Given the description of an element on the screen output the (x, y) to click on. 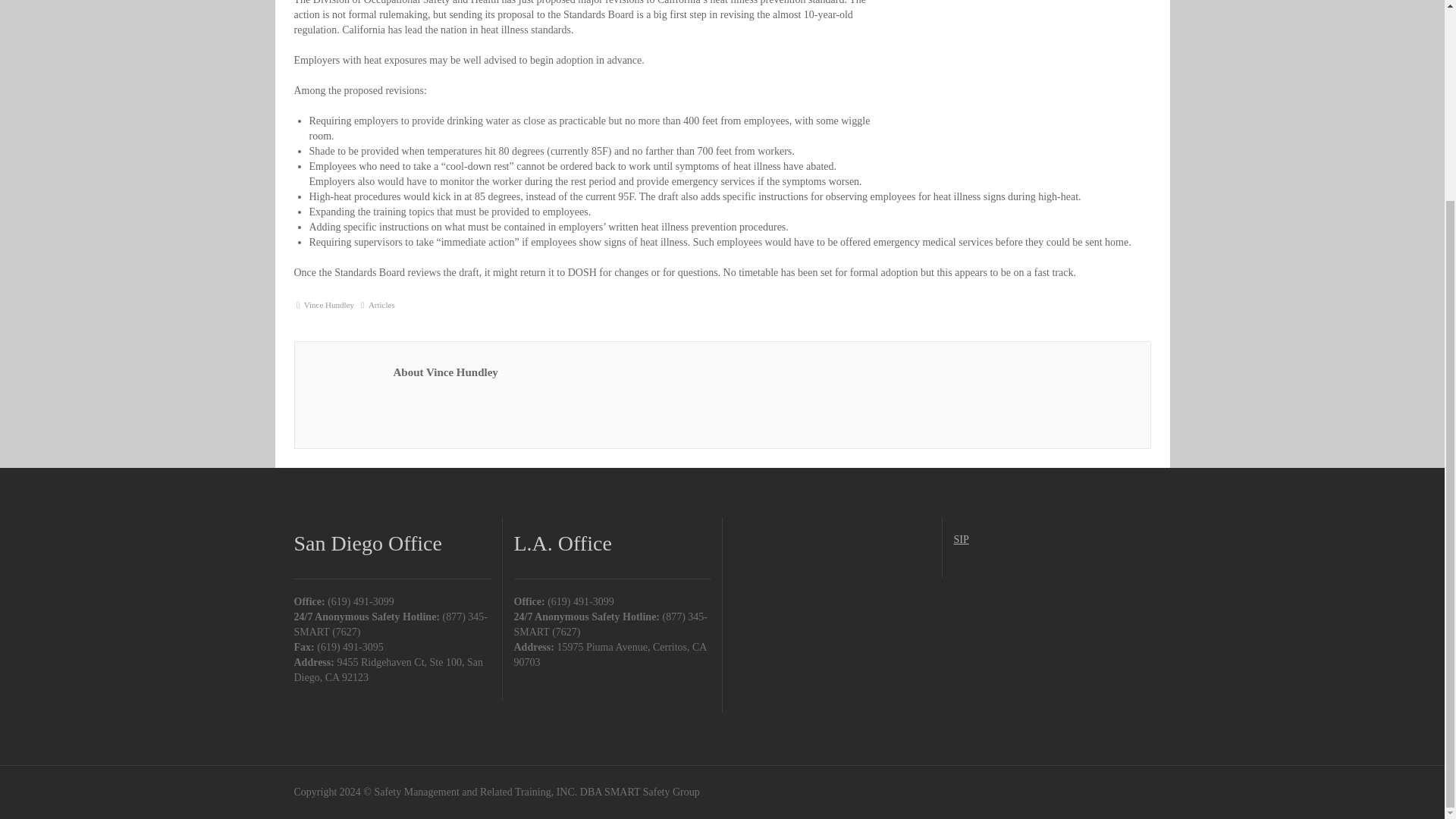
Vince Hundley (328, 304)
Articles (381, 304)
SIP (961, 539)
Posts by Vince Hundley (328, 304)
